Given the description of an element on the screen output the (x, y) to click on. 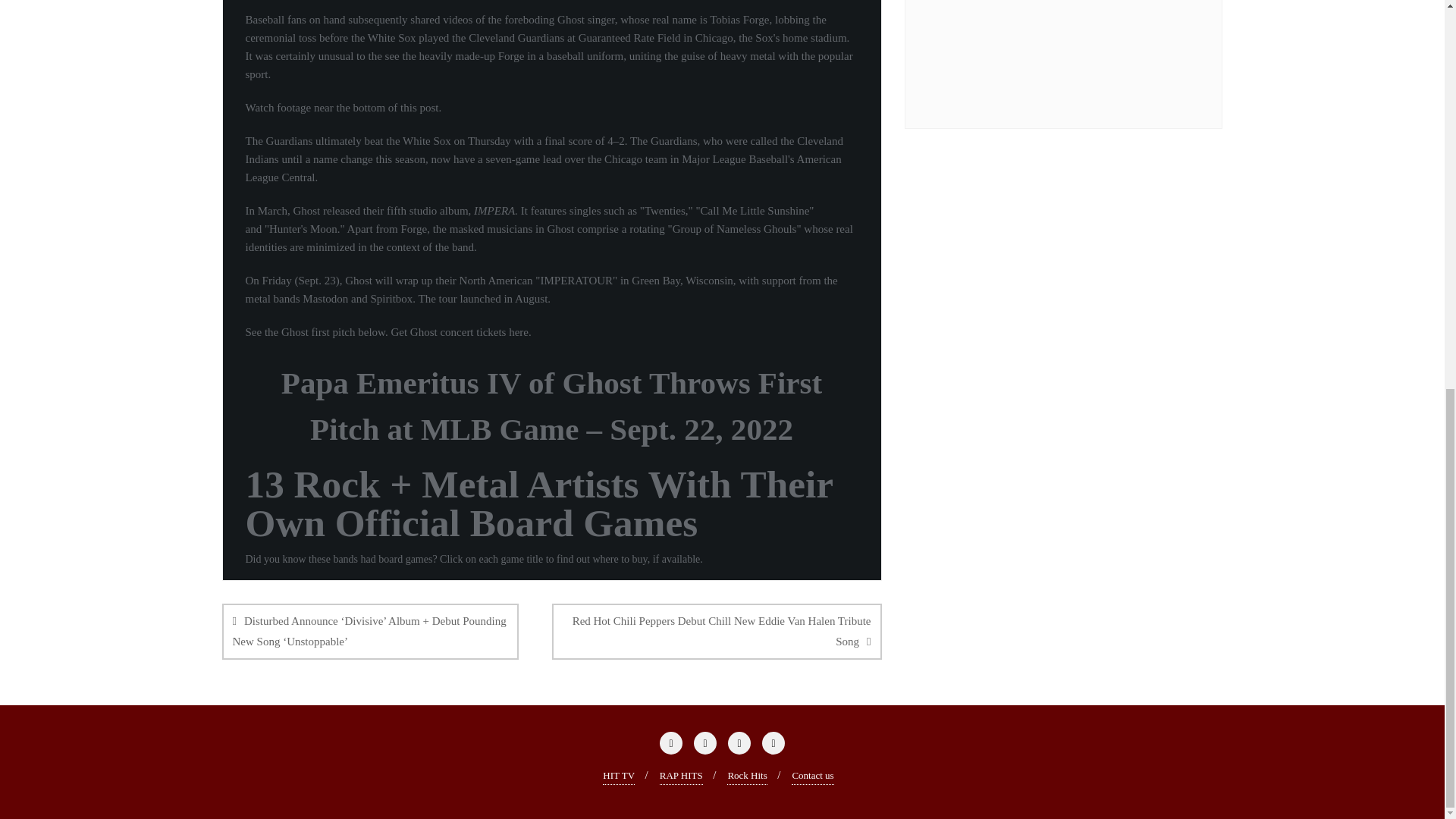
Advertisement (1078, 53)
RAP HITS (681, 775)
Rock Hits (746, 775)
HIT TV (618, 775)
Contact us (812, 775)
